Given the description of an element on the screen output the (x, y) to click on. 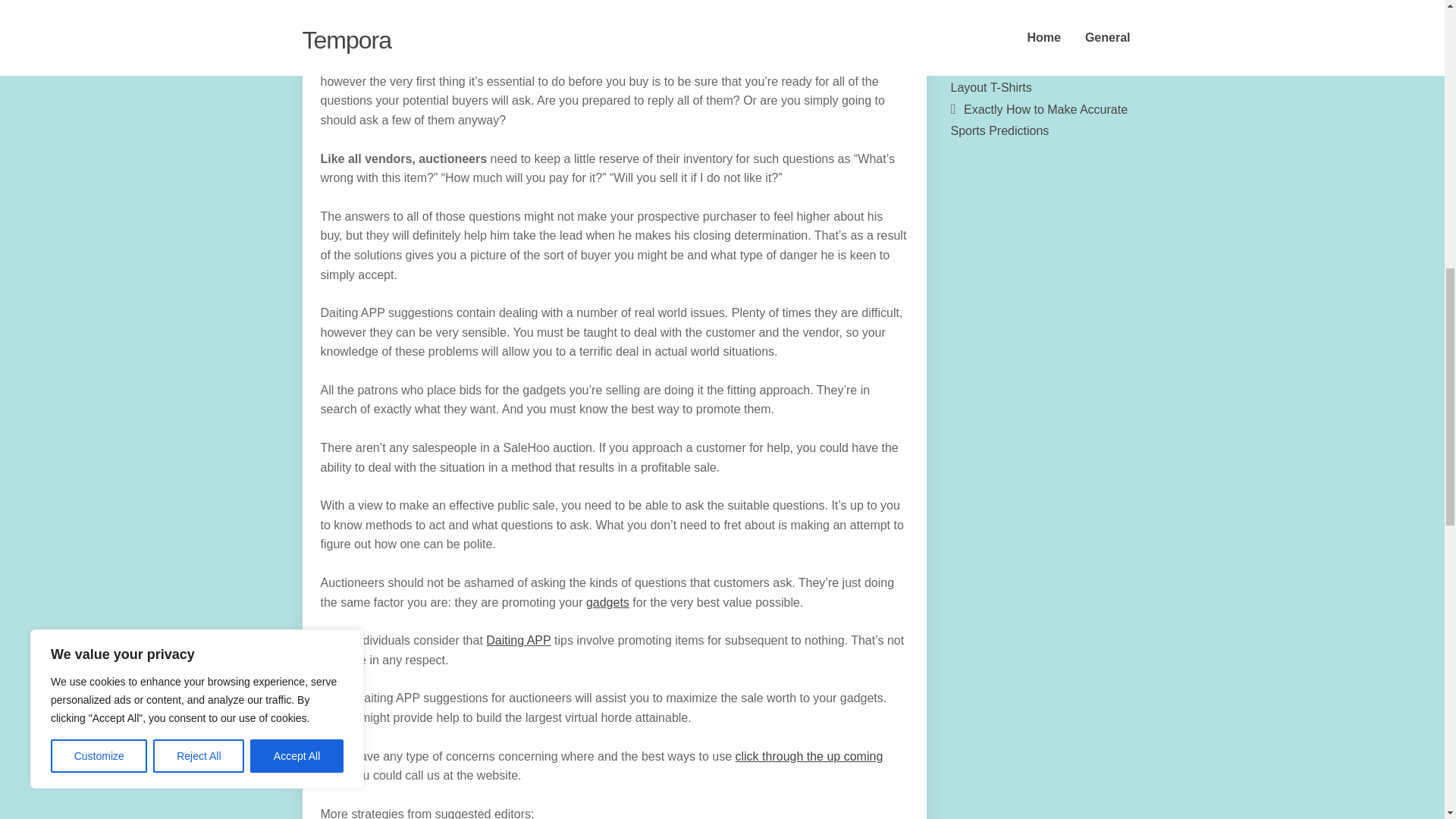
gadgets (607, 602)
Daiting APP (518, 640)
click through the up coming post (601, 766)
